Given the description of an element on the screen output the (x, y) to click on. 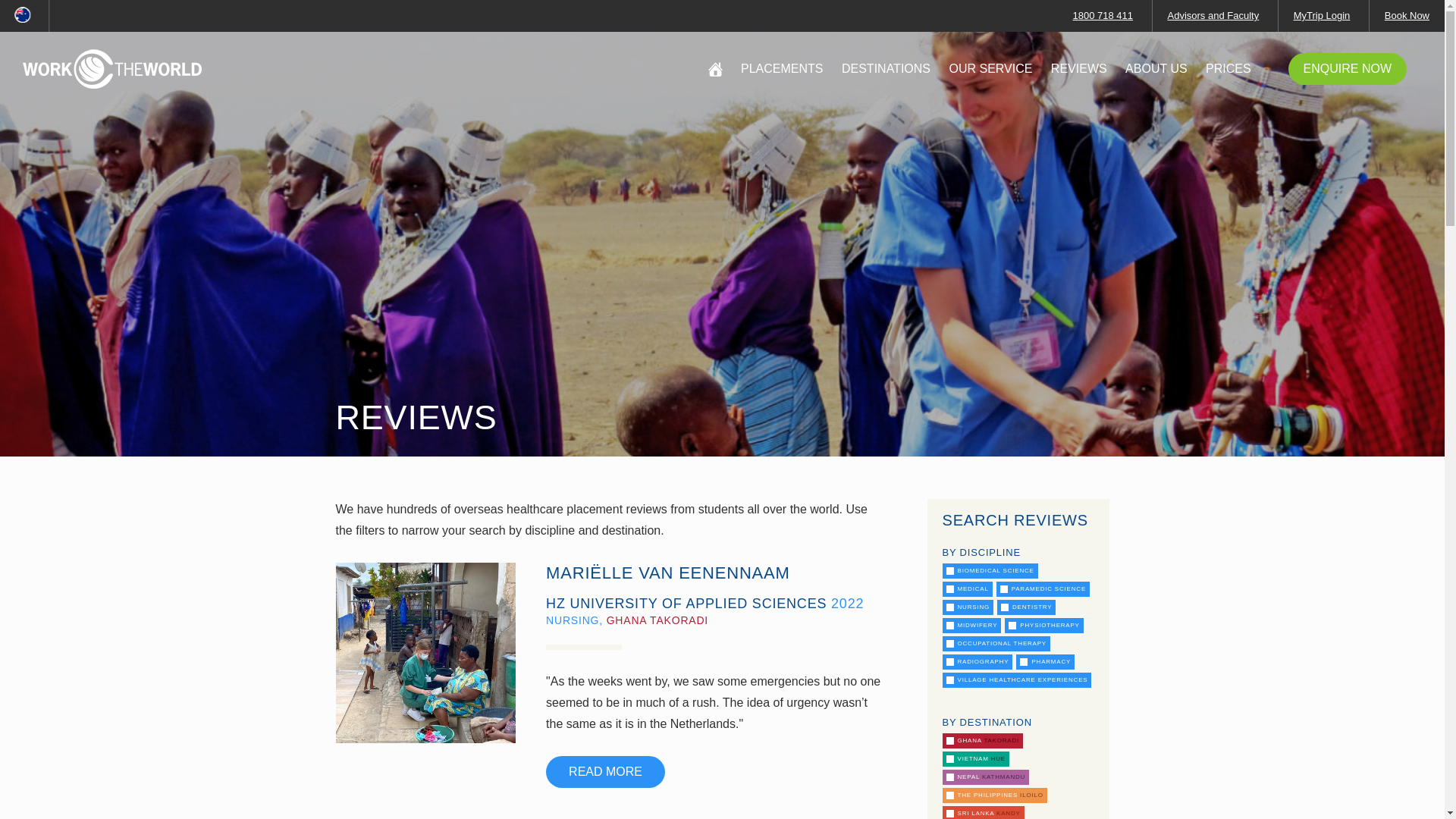
MyTrip Login (1322, 15)
ENQUIRE NOW (1347, 69)
PLACEMENTS (781, 69)
DESTINATIONS (885, 69)
OUR SERVICE (990, 69)
HOME (714, 69)
Book Now (1406, 15)
Advisors and Faculty (1213, 15)
1800 718 411 (1103, 15)
Home (112, 68)
